Given the description of an element on the screen output the (x, y) to click on. 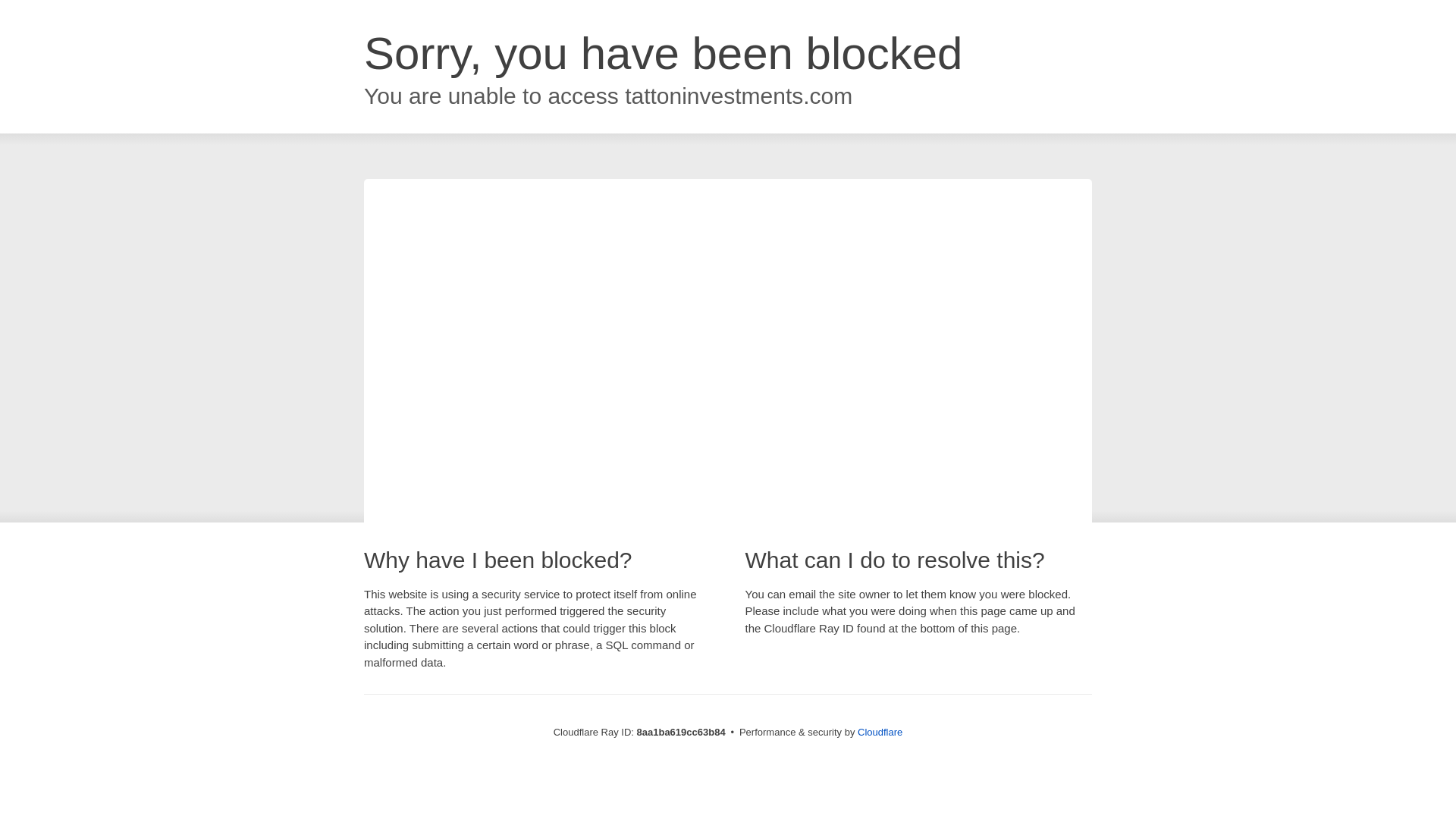
Cloudflare (879, 731)
